Given the description of an element on the screen output the (x, y) to click on. 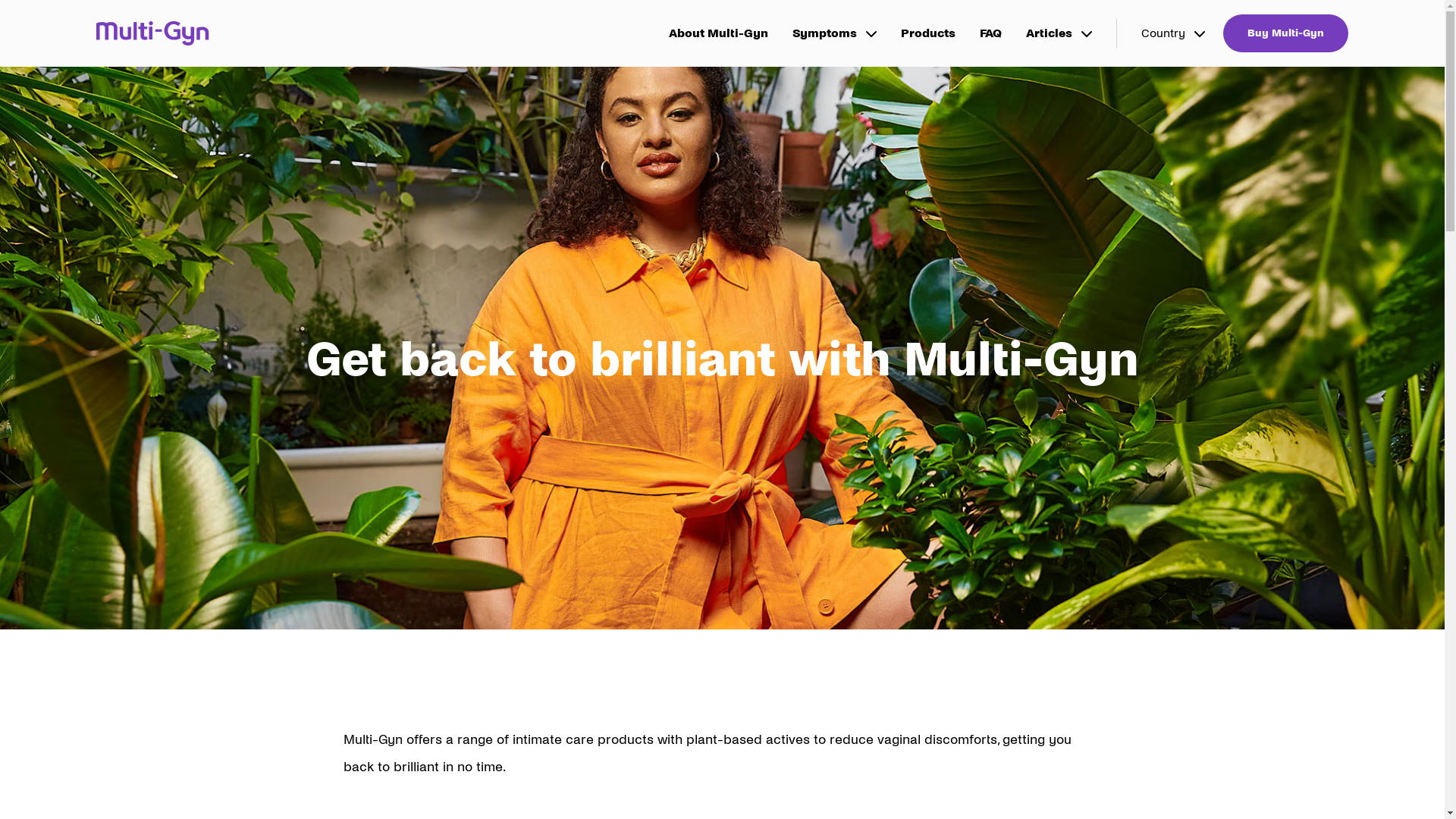
Multi-Gyn Element type: hover (152, 33)
Products Element type: text (927, 33)
FAQ Element type: text (990, 33)
Country Element type: text (1172, 33)
Articles Element type: text (1059, 33)
Buy Multi-Gyn Element type: text (1285, 33)
Symptoms Element type: text (834, 33)
About Multi-Gyn Element type: text (718, 33)
